Given the description of an element on the screen output the (x, y) to click on. 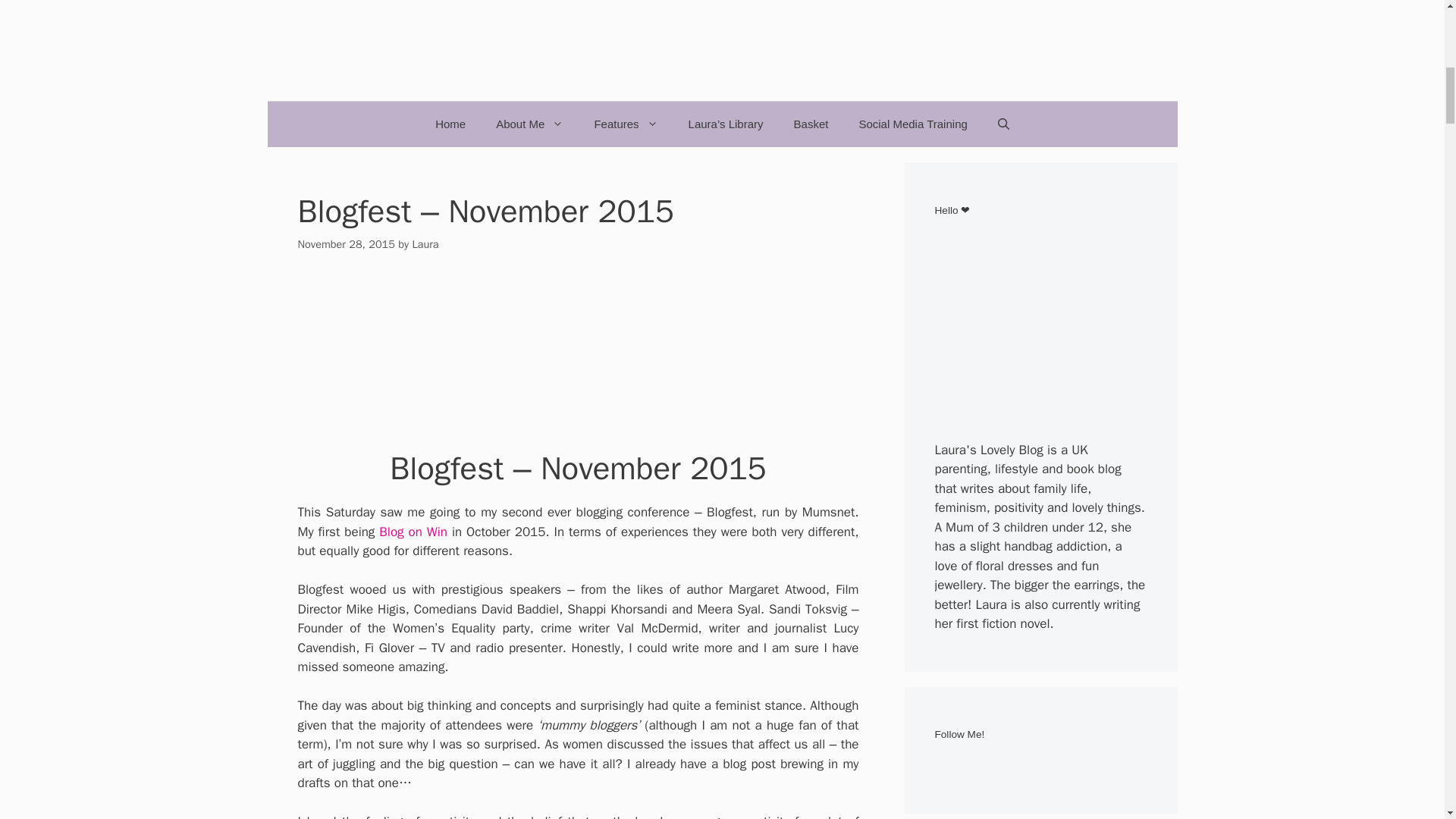
Social Media Training (912, 124)
About Me (529, 124)
Basket (811, 124)
Blog on Win (412, 531)
Laura (425, 243)
Home (450, 124)
View all posts by Laura (425, 243)
Features (625, 124)
